Given the description of an element on the screen output the (x, y) to click on. 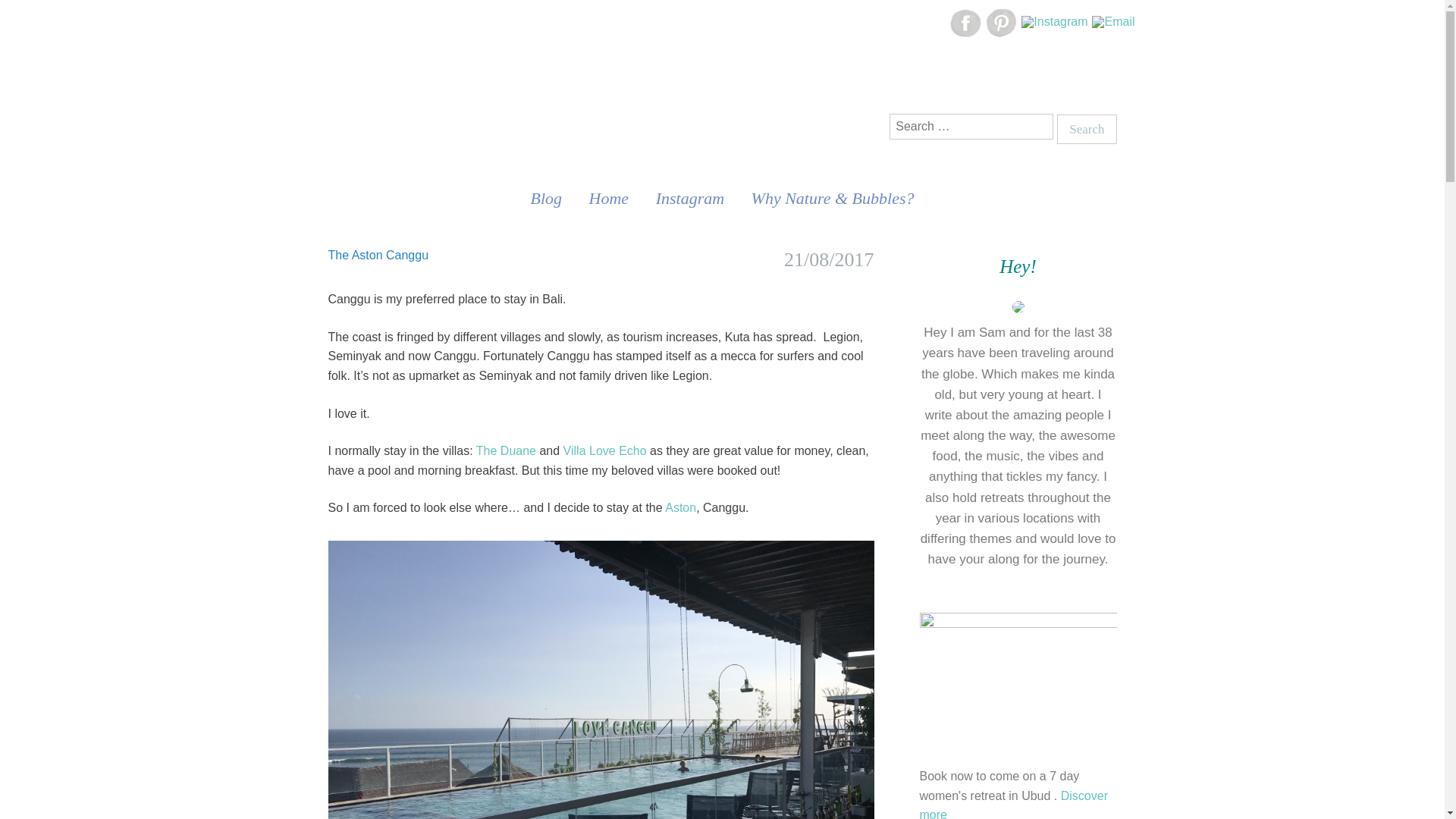
The Duane (505, 450)
Search (1086, 129)
Villa Love Echo (604, 450)
Instagram (690, 197)
Aston (678, 507)
Skip To Content (315, 188)
Home (609, 197)
Search (1086, 129)
Search (1086, 129)
Blog (546, 197)
